Given the description of an element on the screen output the (x, y) to click on. 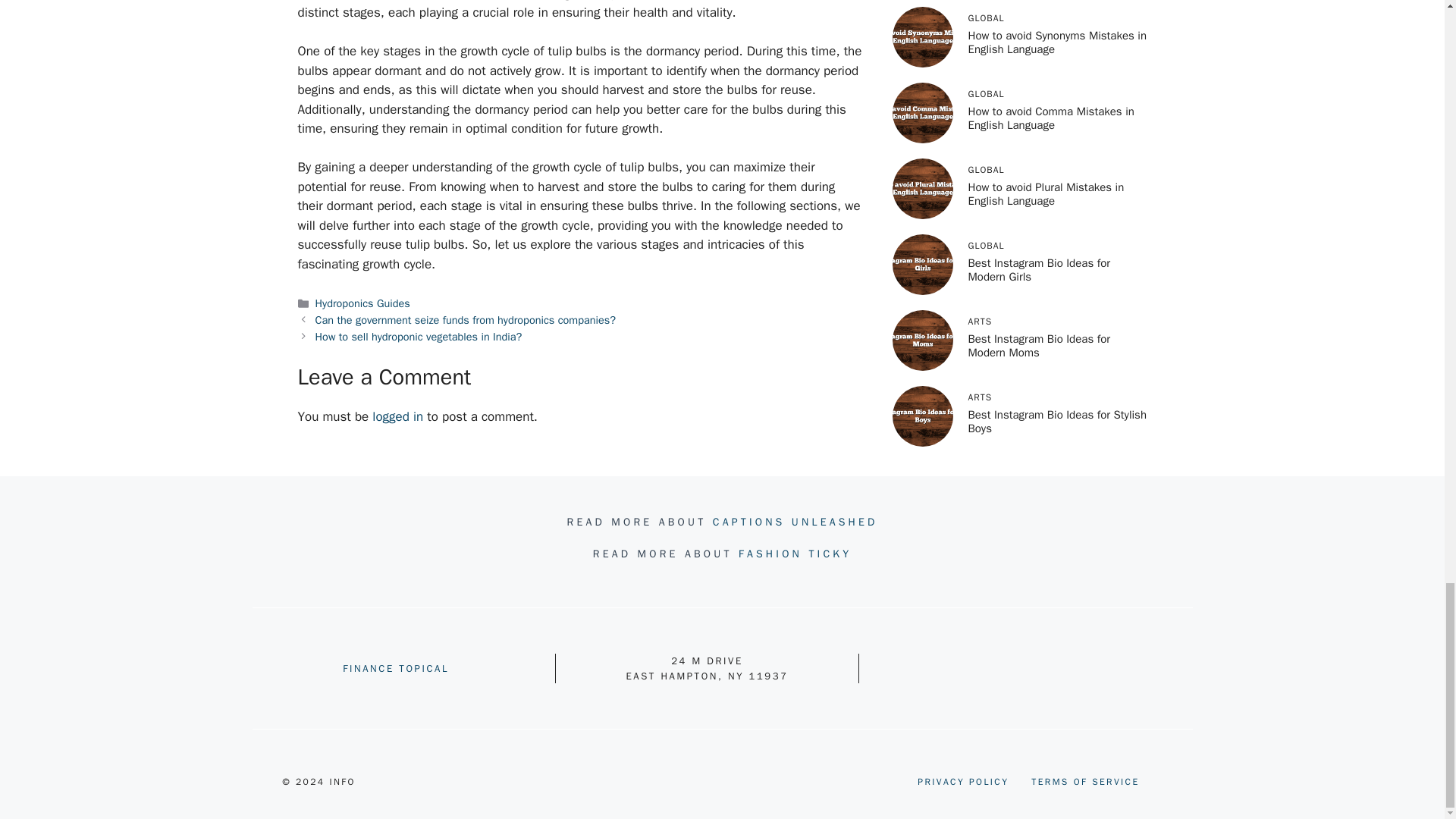
FINANCE TOPICAL (395, 667)
Hydroponics Guides (362, 303)
logged in (397, 416)
CAPTIONS UNLEASHED (795, 521)
FASHION TICKY (794, 553)
Can the government seize funds from hydroponics companies? (465, 319)
How to sell hydroponic vegetables in India? (418, 336)
